Given the description of an element on the screen output the (x, y) to click on. 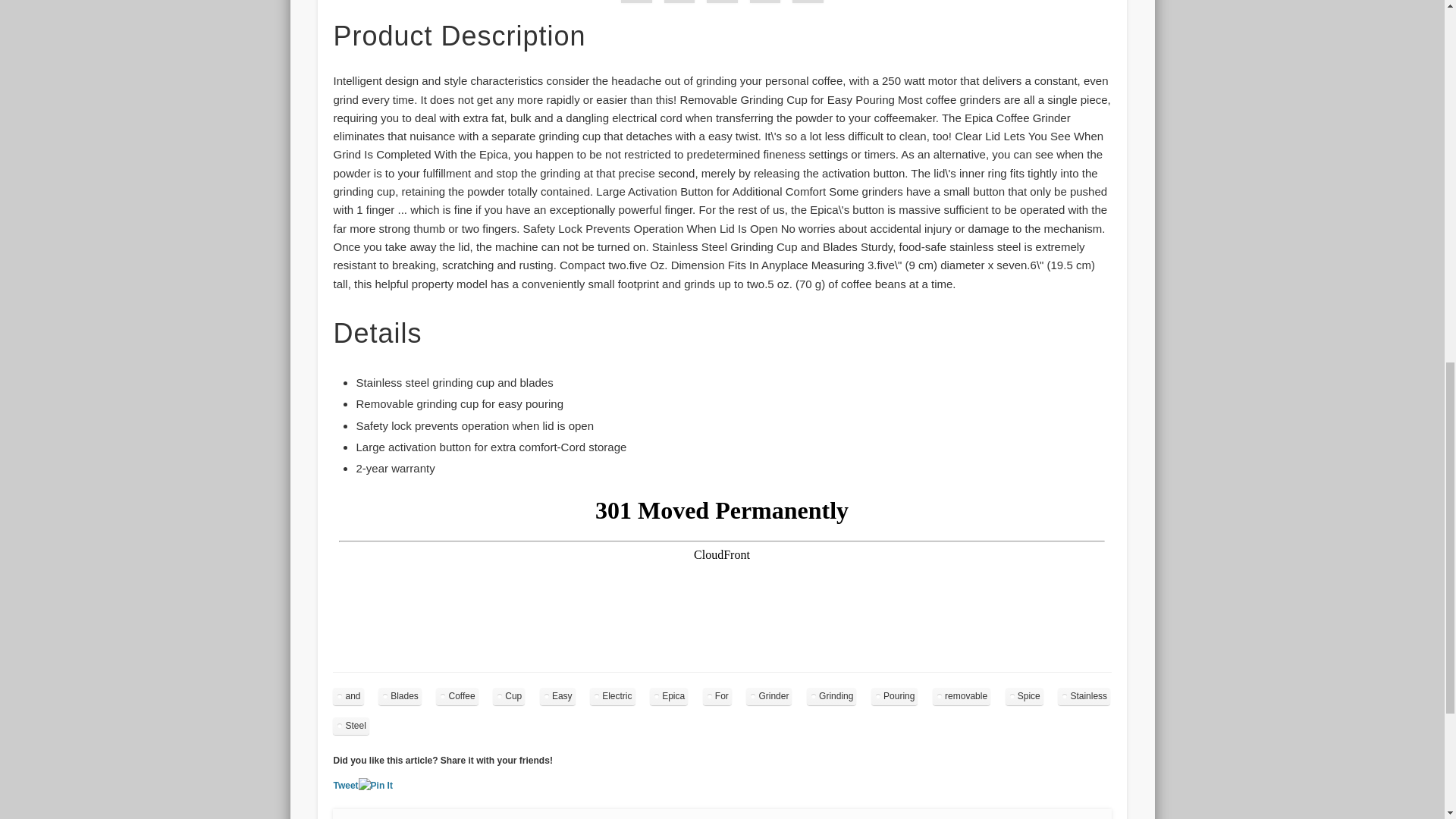
Pin It (375, 785)
